Given the description of an element on the screen output the (x, y) to click on. 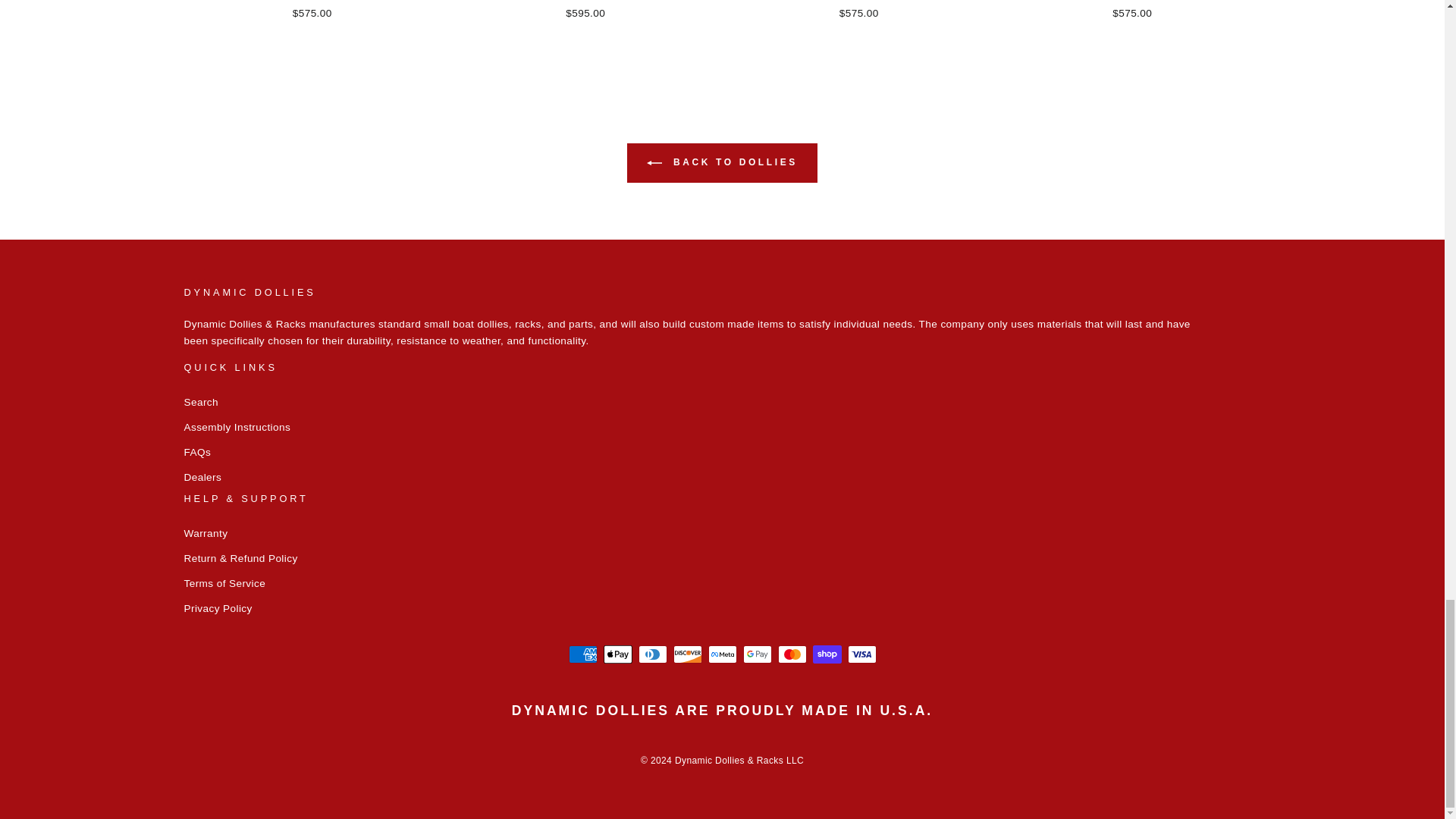
Mastercard (791, 654)
Discover (686, 654)
Google Pay (756, 654)
Meta Pay (721, 654)
Diners Club (652, 654)
Apple Pay (617, 654)
Shop Pay (826, 654)
Visa (861, 654)
American Express (582, 654)
